Given the description of an element on the screen output the (x, y) to click on. 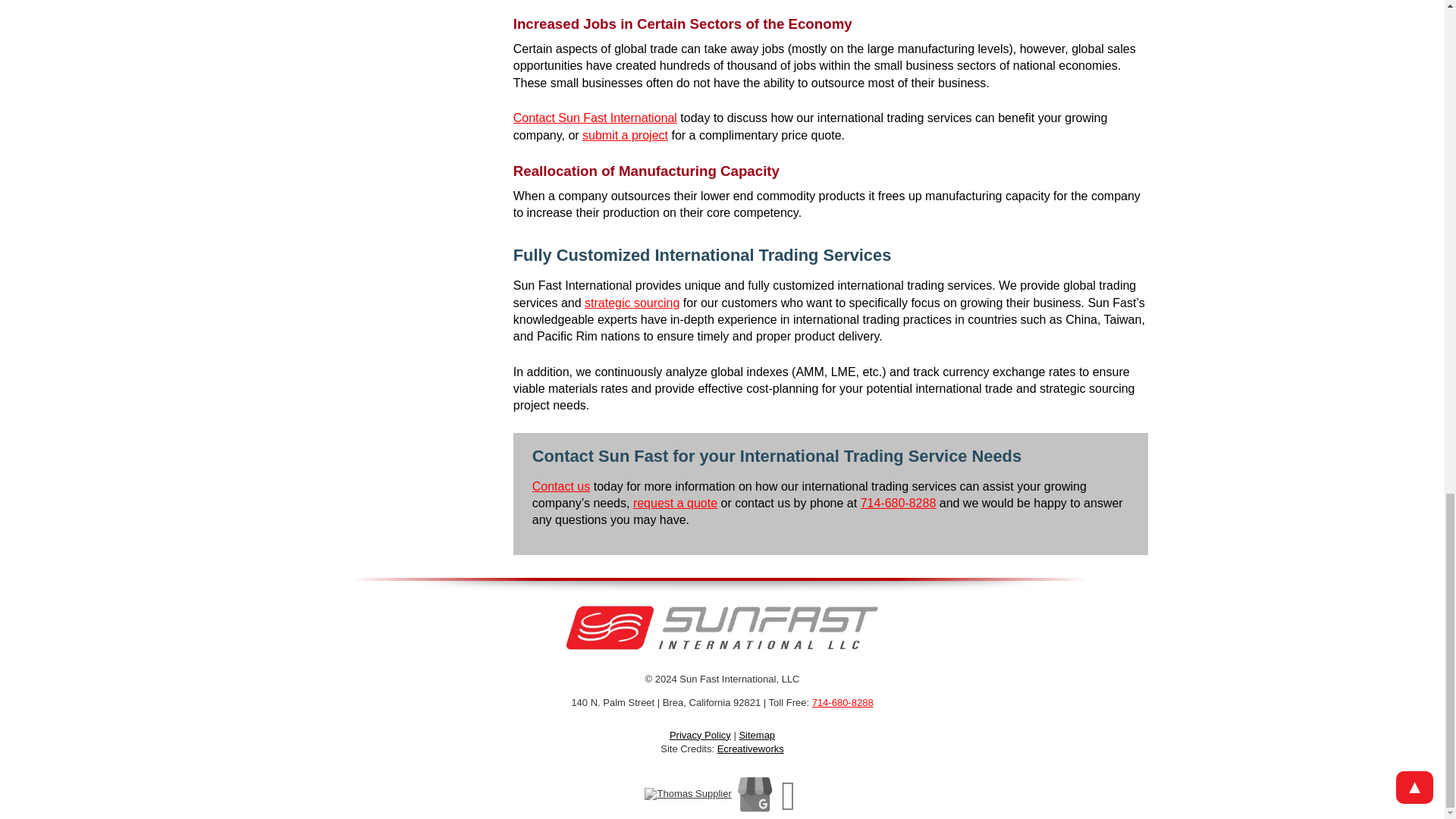
Industrial Internet Marketing (750, 748)
